Given the description of an element on the screen output the (x, y) to click on. 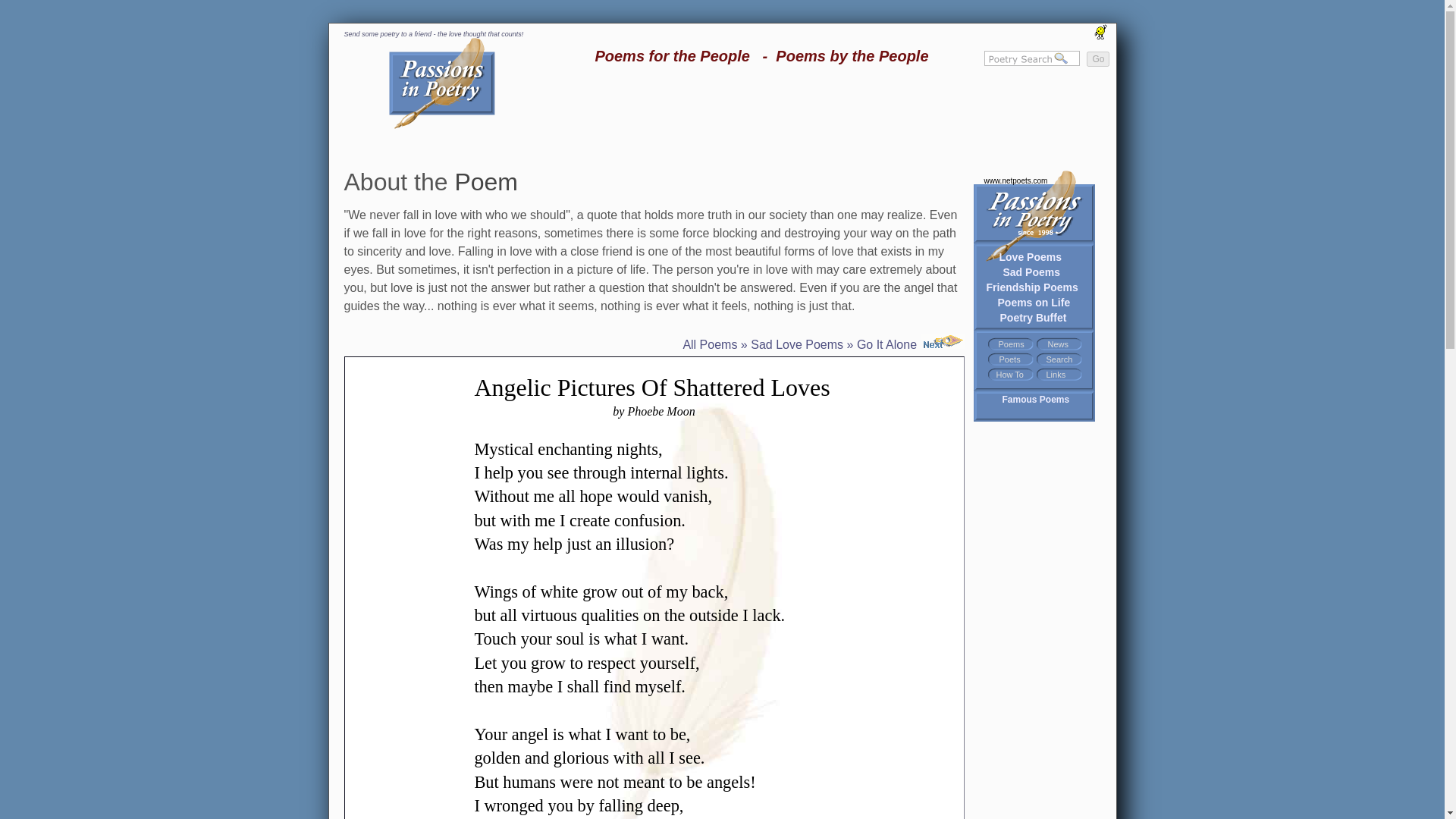
Advanced Search Options (1059, 359)
Find an Author (1009, 359)
Poems on Life (1033, 302)
Go to next poem (910, 344)
Passions in Poetry (441, 125)
How To (1009, 374)
Go (1097, 58)
Poetry Buffet (1031, 317)
Go It Alone (910, 344)
The Best Public Domain Poetry (1036, 399)
